Given the description of an element on the screen output the (x, y) to click on. 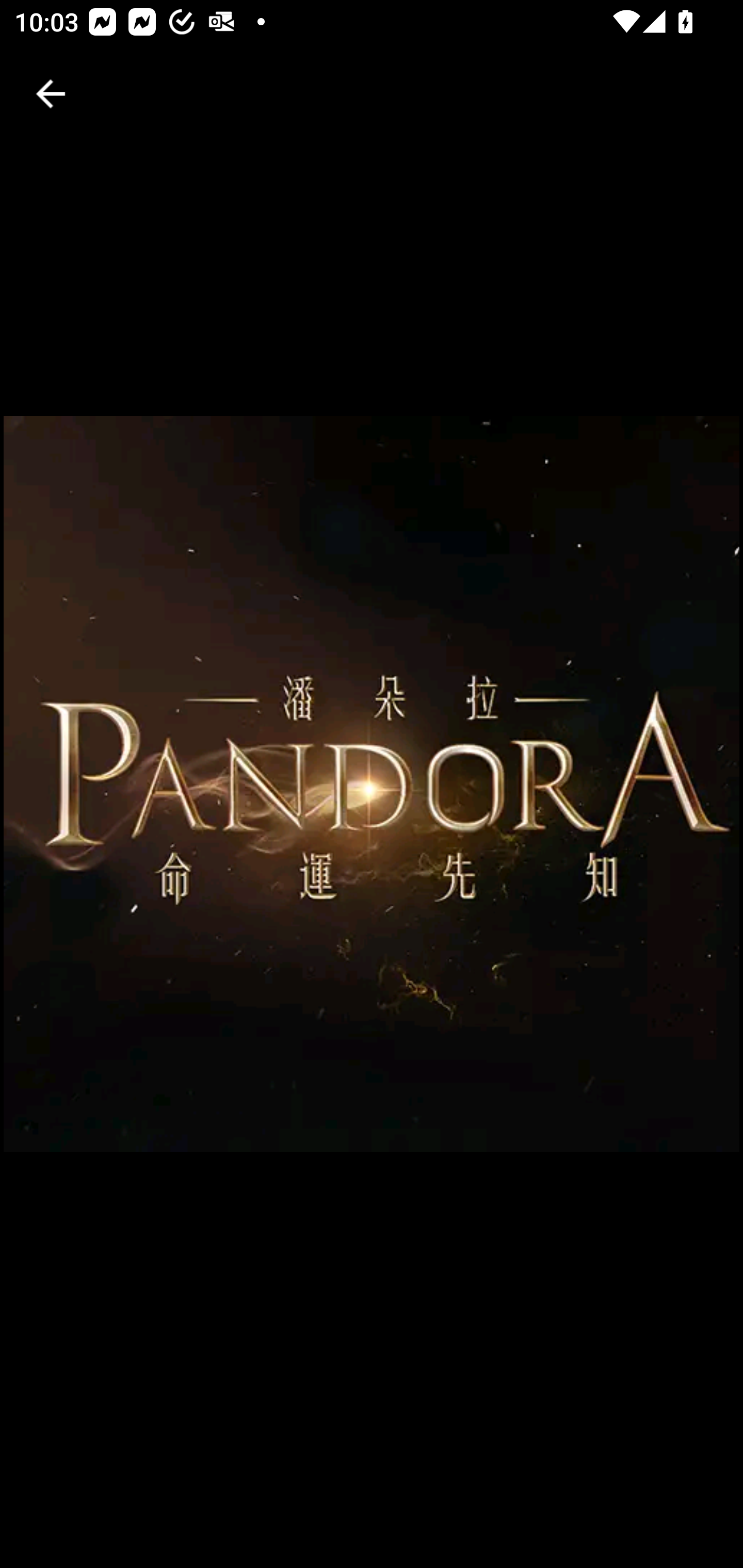
Back (50, 93)
